Given the description of an element on the screen output the (x, y) to click on. 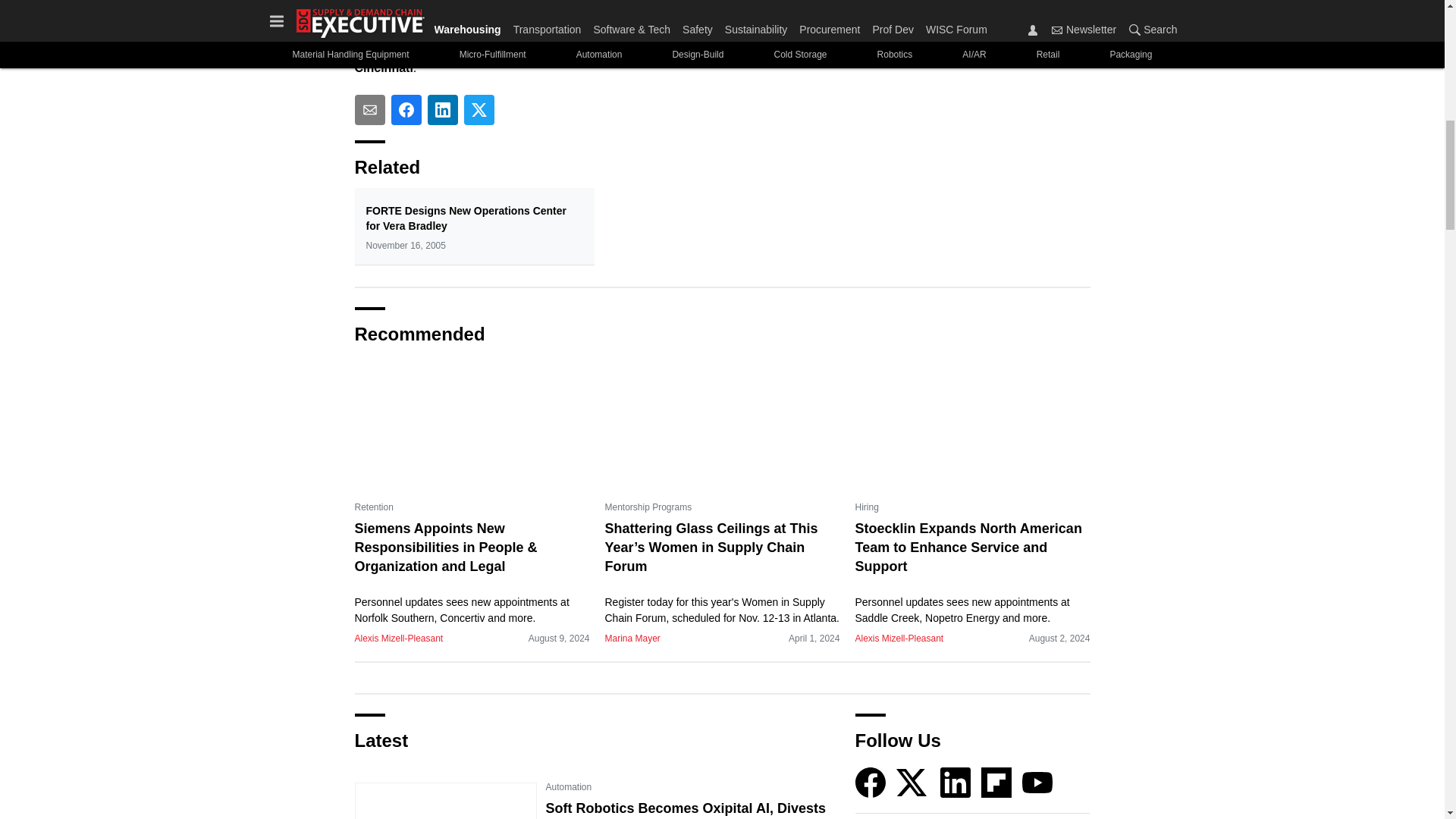
Flipboard icon (996, 782)
Share To linkedin (443, 110)
Share To facebook (406, 110)
Facebook icon (870, 782)
LinkedIn icon (955, 782)
Twitter X icon (911, 782)
YouTube icon (1037, 782)
Share To twitter (479, 110)
Share To email (370, 110)
